Given the description of an element on the screen output the (x, y) to click on. 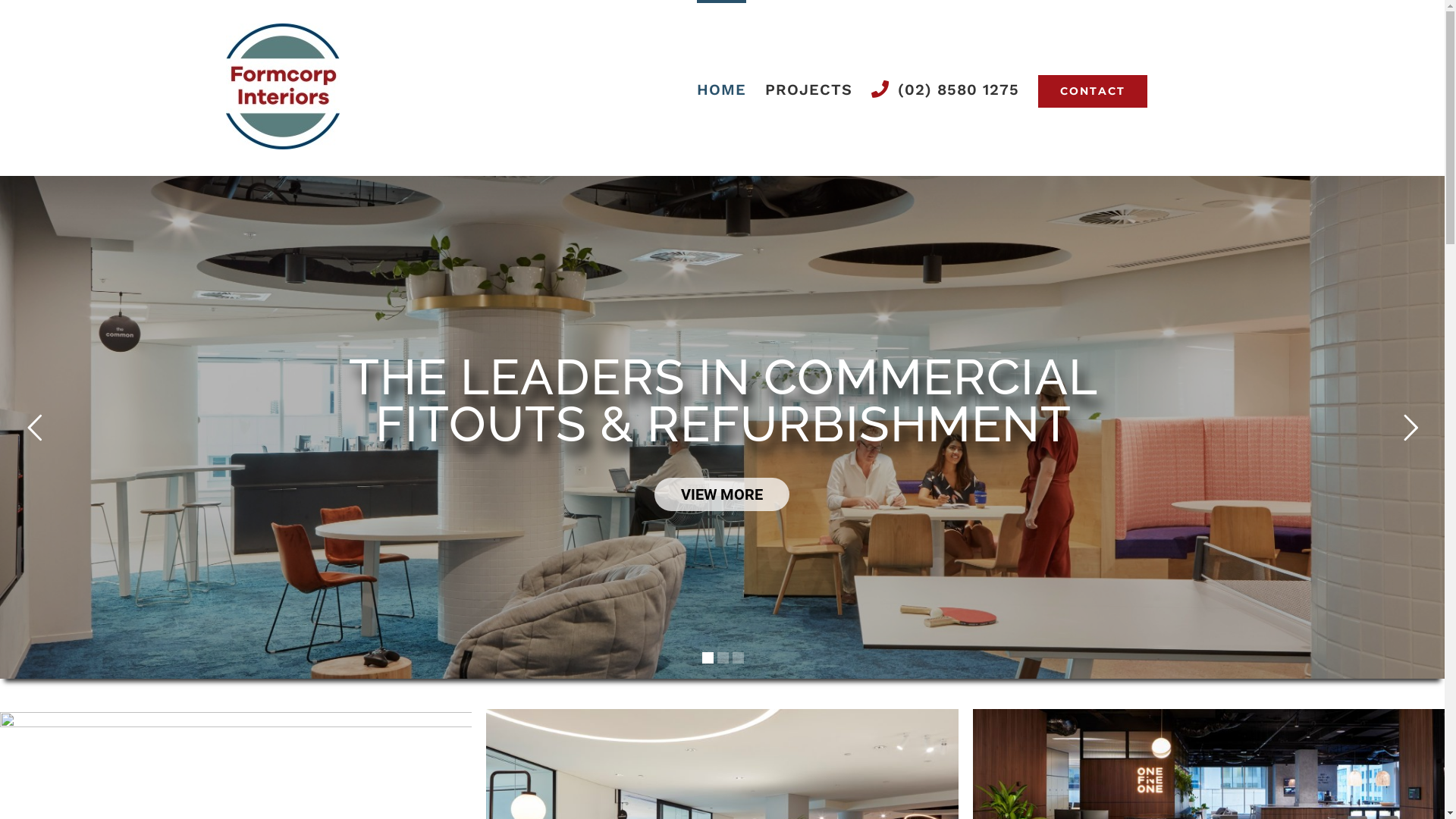
(02) 8580 1275 Element type: text (944, 87)
PROJECTS Element type: text (808, 87)
CONTACT Element type: text (1091, 87)
HOME Element type: text (721, 87)
